Given the description of an element on the screen output the (x, y) to click on. 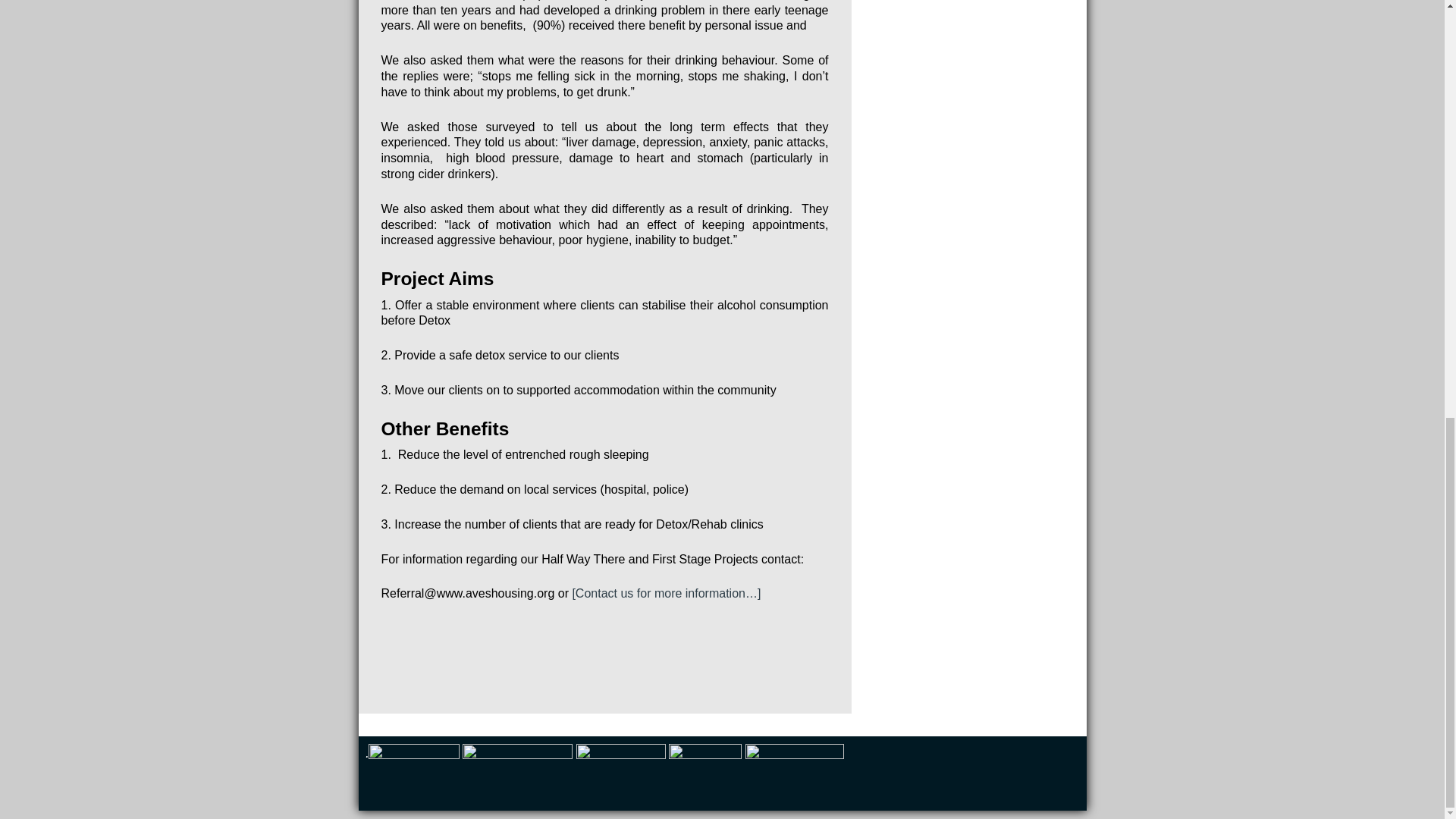
HCA (620, 772)
Living Wage (704, 773)
NHF (517, 772)
Living Wage (794, 772)
contact form (666, 593)
CQC (414, 772)
